Given the description of an element on the screen output the (x, y) to click on. 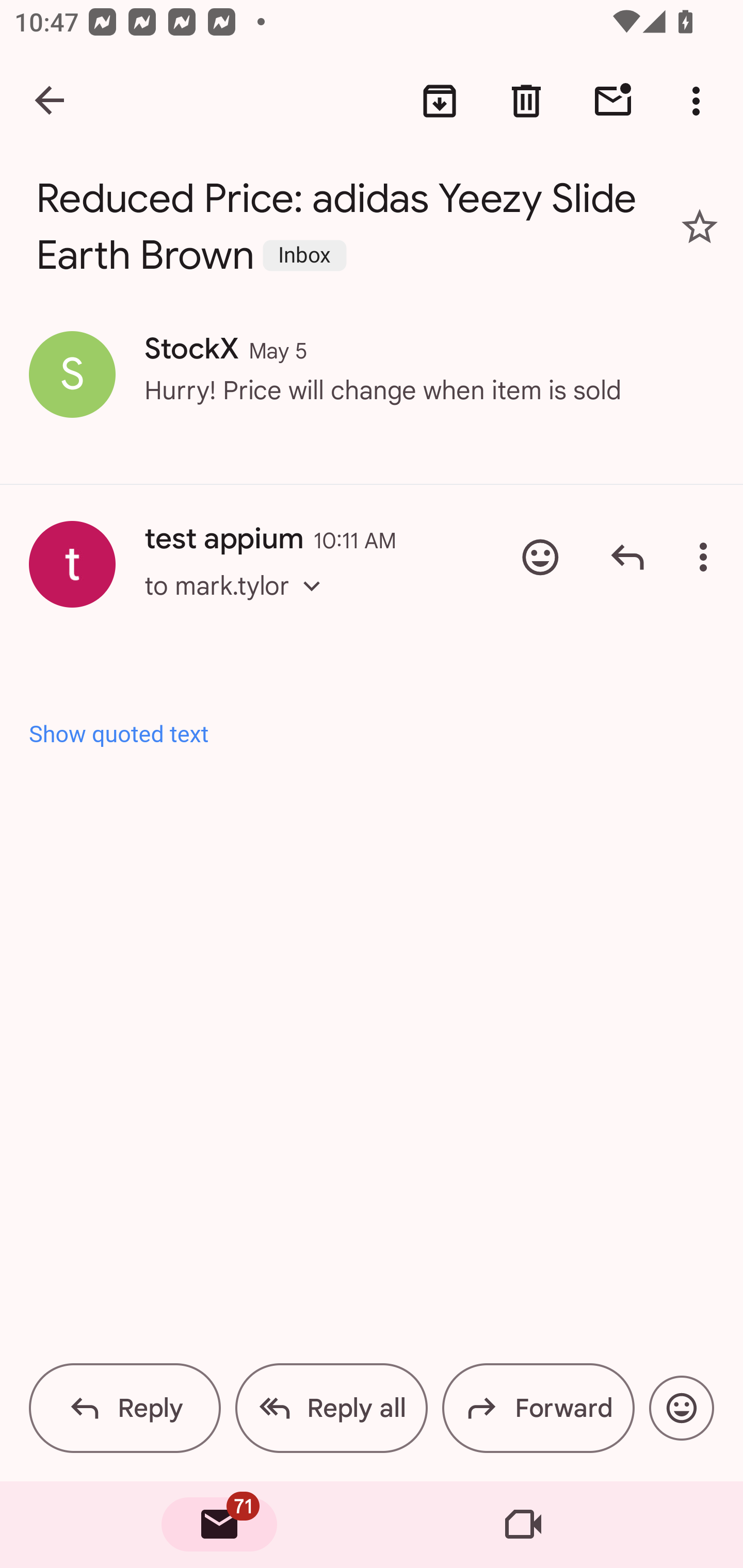
Navigate up (50, 101)
Archive (439, 101)
Delete (525, 101)
Mark unread (612, 101)
More options (699, 101)
Add star (699, 226)
Show contact information for StockX (71, 373)
Add emoji reaction (540, 557)
Reply (626, 557)
More options (706, 557)
Show contact information for test appium (71, 564)
to mark.tylor (238, 604)
Reply (124, 1407)
Reply all (331, 1407)
Forward (538, 1407)
Add emoji reaction (681, 1407)
Meet (523, 1524)
